Given the description of an element on the screen output the (x, y) to click on. 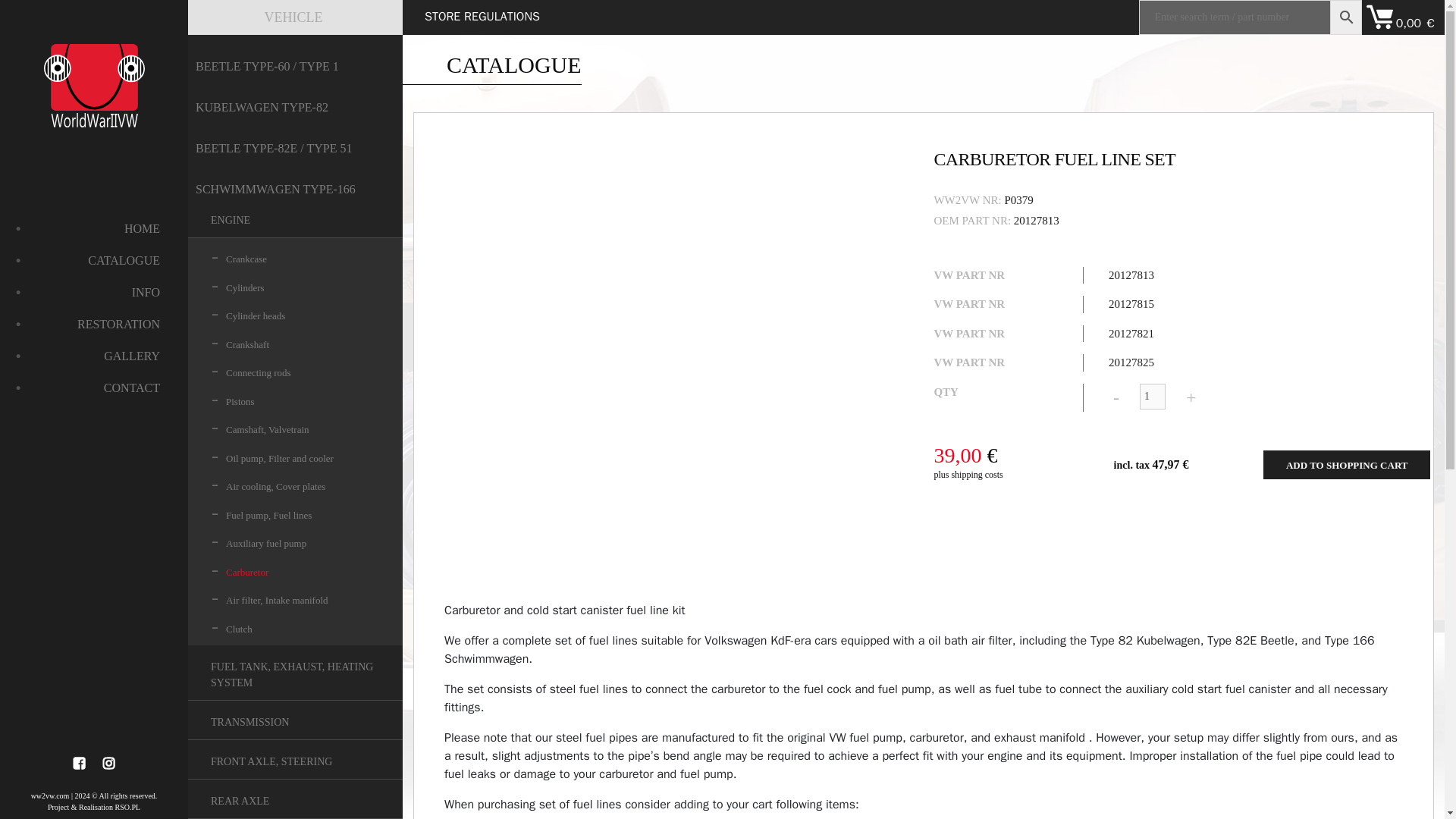
RSO.PL (127, 807)
CATALOGUE (93, 260)
INFO (93, 292)
CONTACT (93, 388)
Qty (1153, 396)
HOME (93, 229)
ww2vw.com (49, 795)
STORE REGULATIONS (482, 16)
RESTORATION (93, 324)
1 (1153, 396)
